Given the description of an element on the screen output the (x, y) to click on. 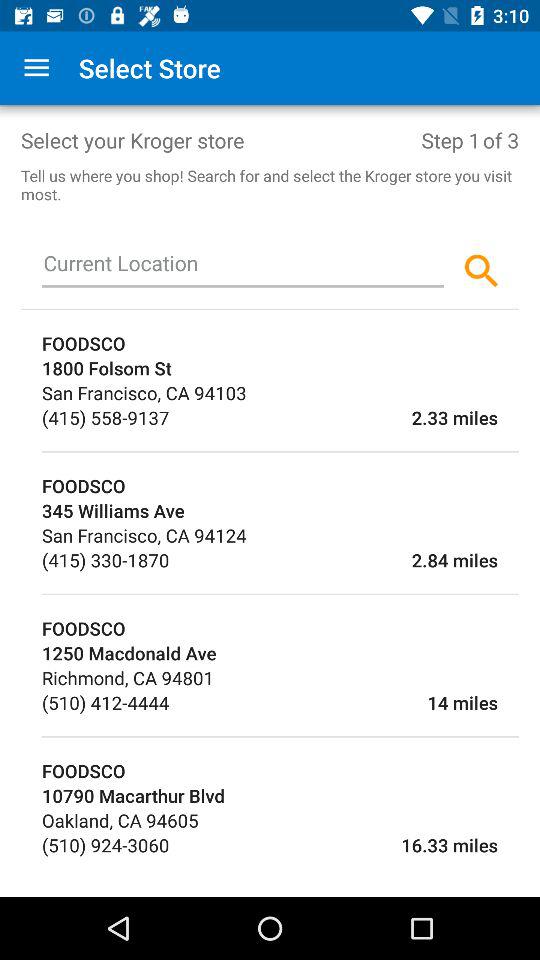
turn off the icon next to (510) 412-4444 icon (333, 702)
